Given the description of an element on the screen output the (x, y) to click on. 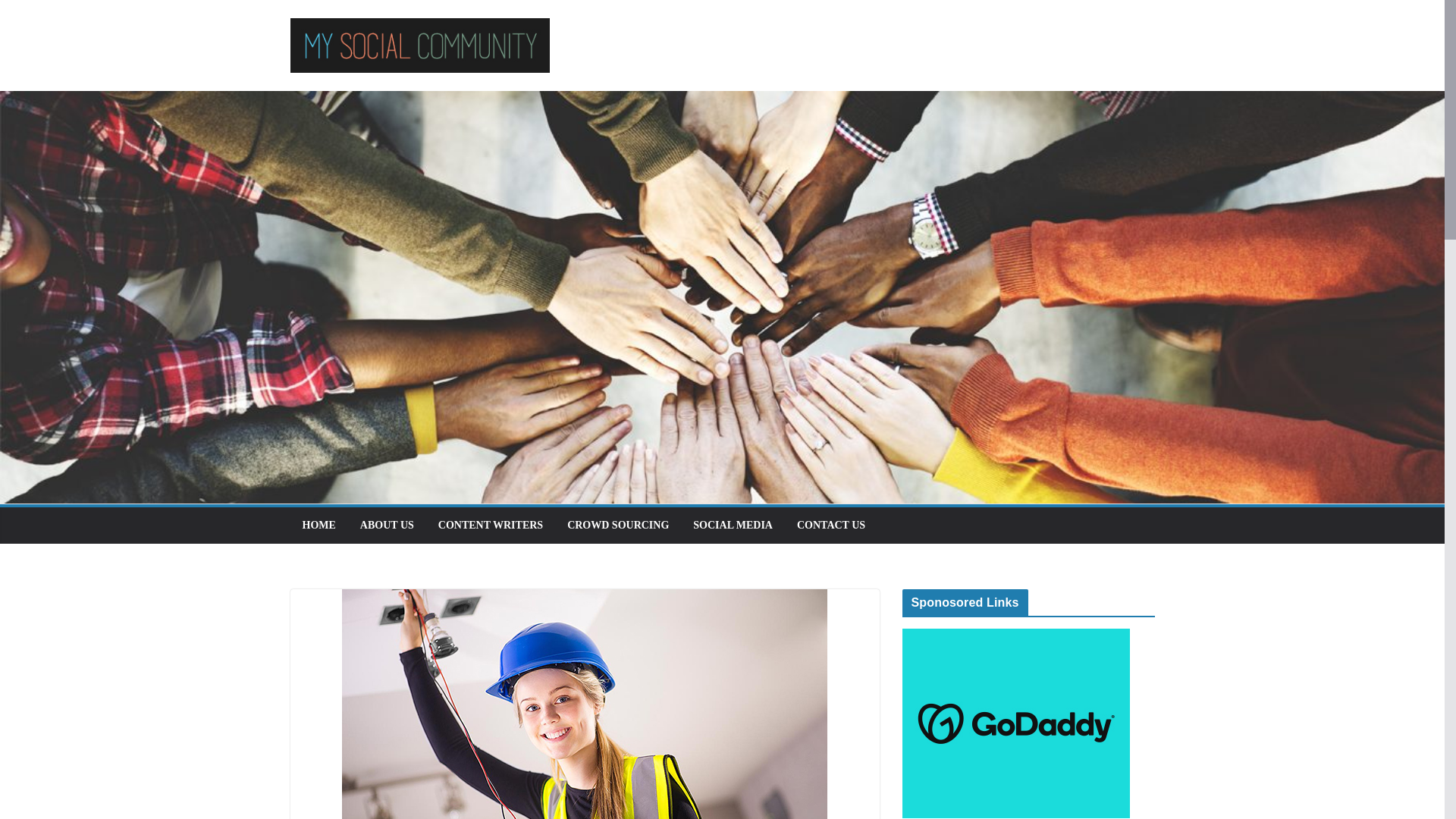
HOME (317, 525)
ABOUT US (386, 525)
CONTACT US (830, 525)
CROWD SOURCING (617, 525)
SOCIAL MEDIA (733, 525)
CONTENT WRITERS (490, 525)
